Given the description of an element on the screen output the (x, y) to click on. 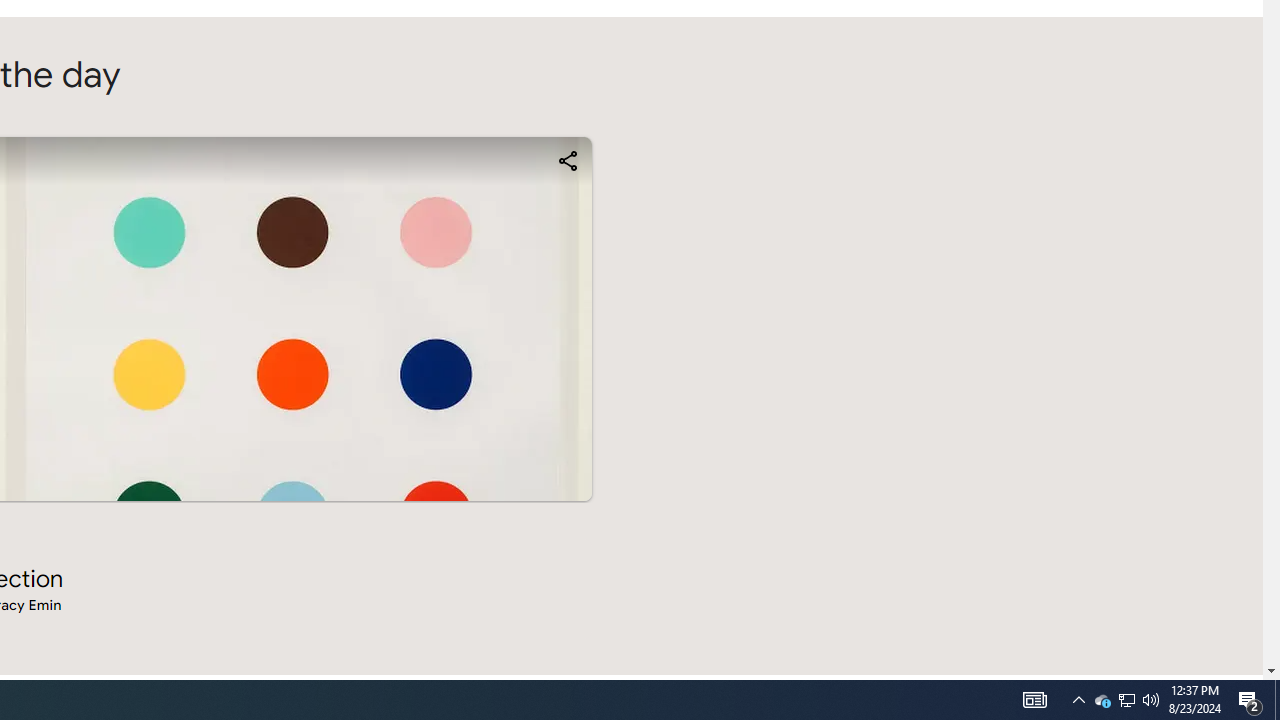
Share "Get to Know the Young British Artists" (566, 160)
